Given the description of an element on the screen output the (x, y) to click on. 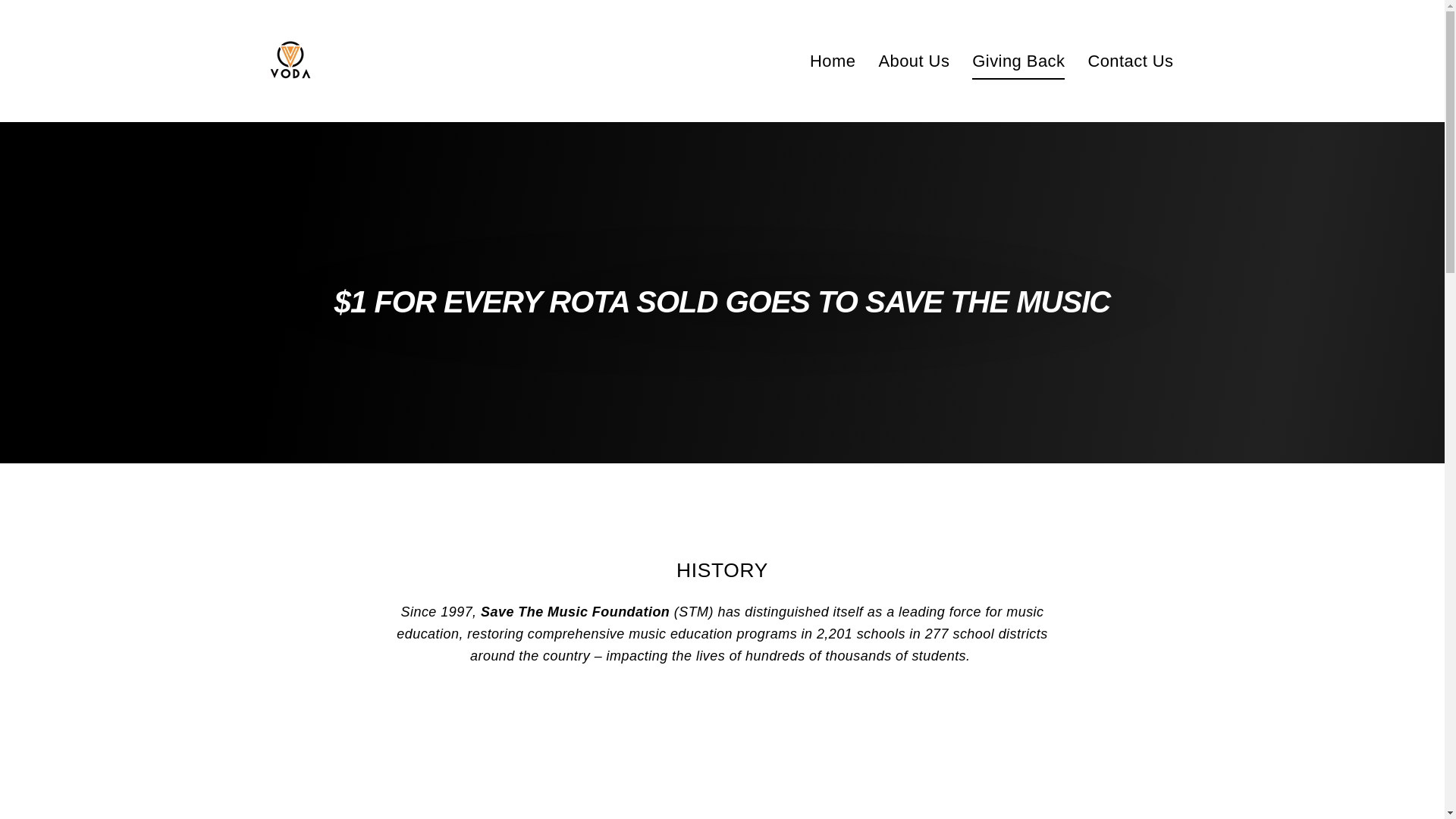
Contact Us (1130, 60)
About Us (913, 60)
Home (831, 60)
Giving Back (1017, 60)
